Given the description of an element on the screen output the (x, y) to click on. 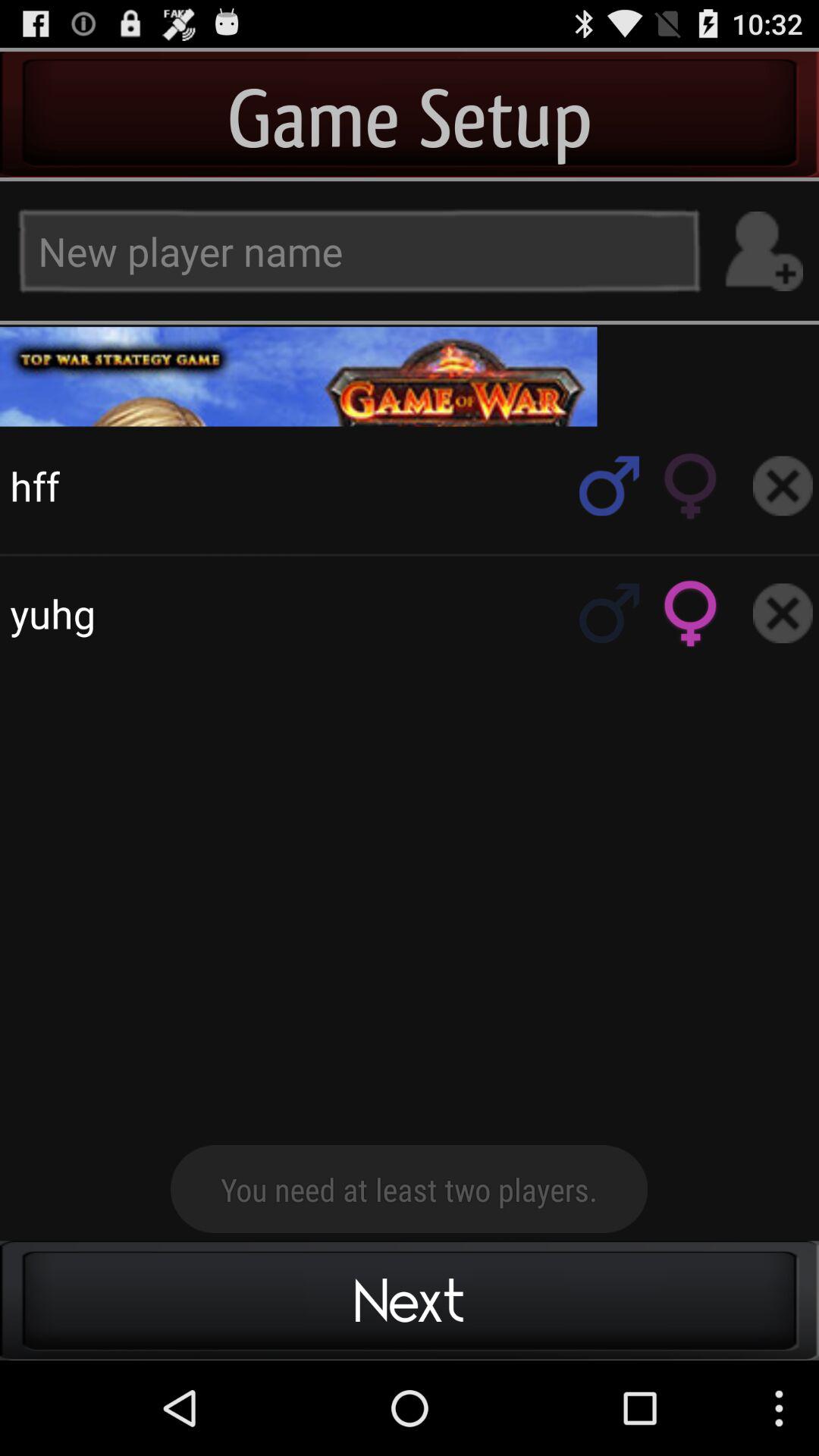
toggle gender (690, 613)
